Given the description of an element on the screen output the (x, y) to click on. 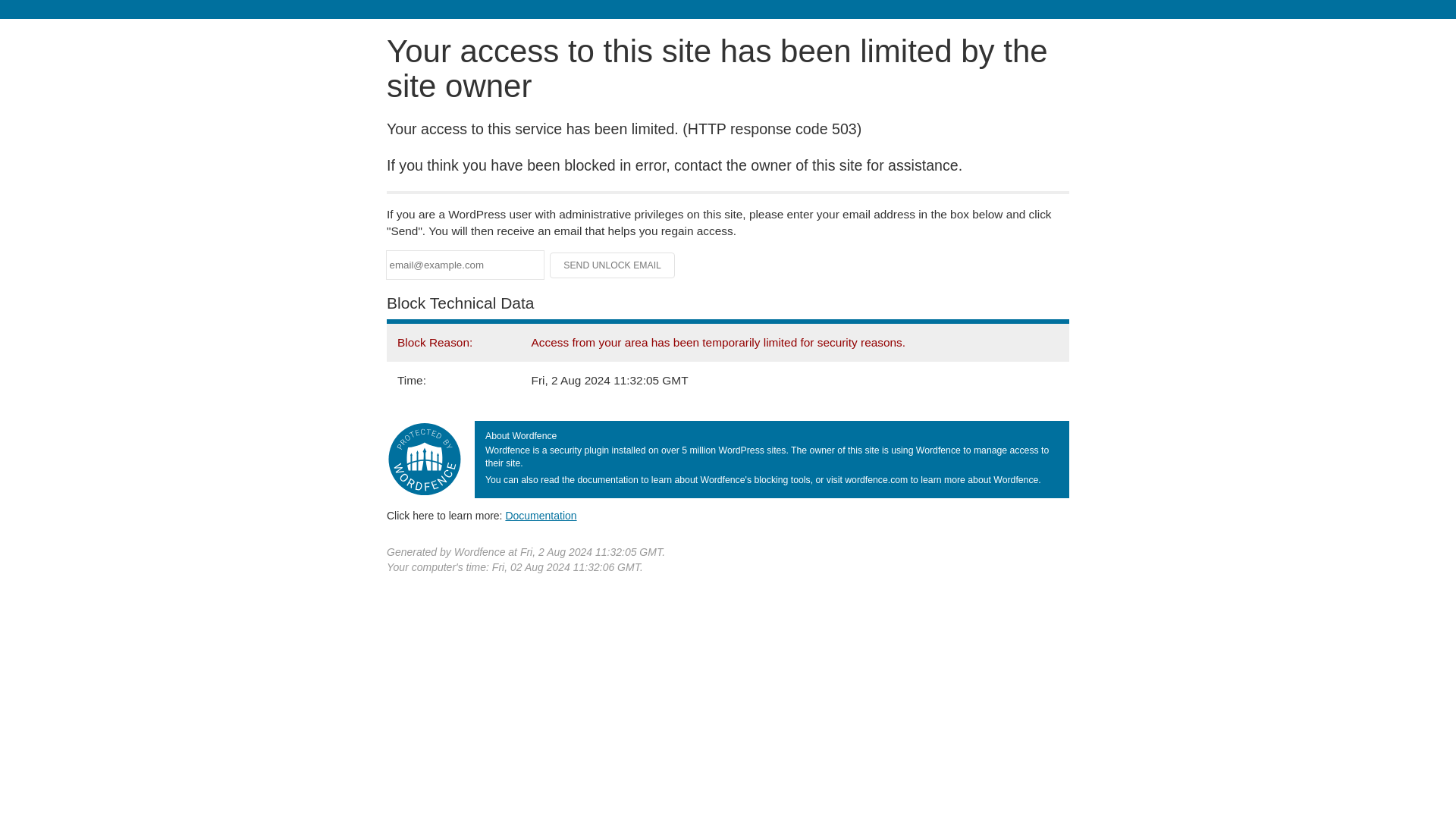
Documentation (540, 515)
Send Unlock Email (612, 265)
Send Unlock Email (612, 265)
